Given the description of an element on the screen output the (x, y) to click on. 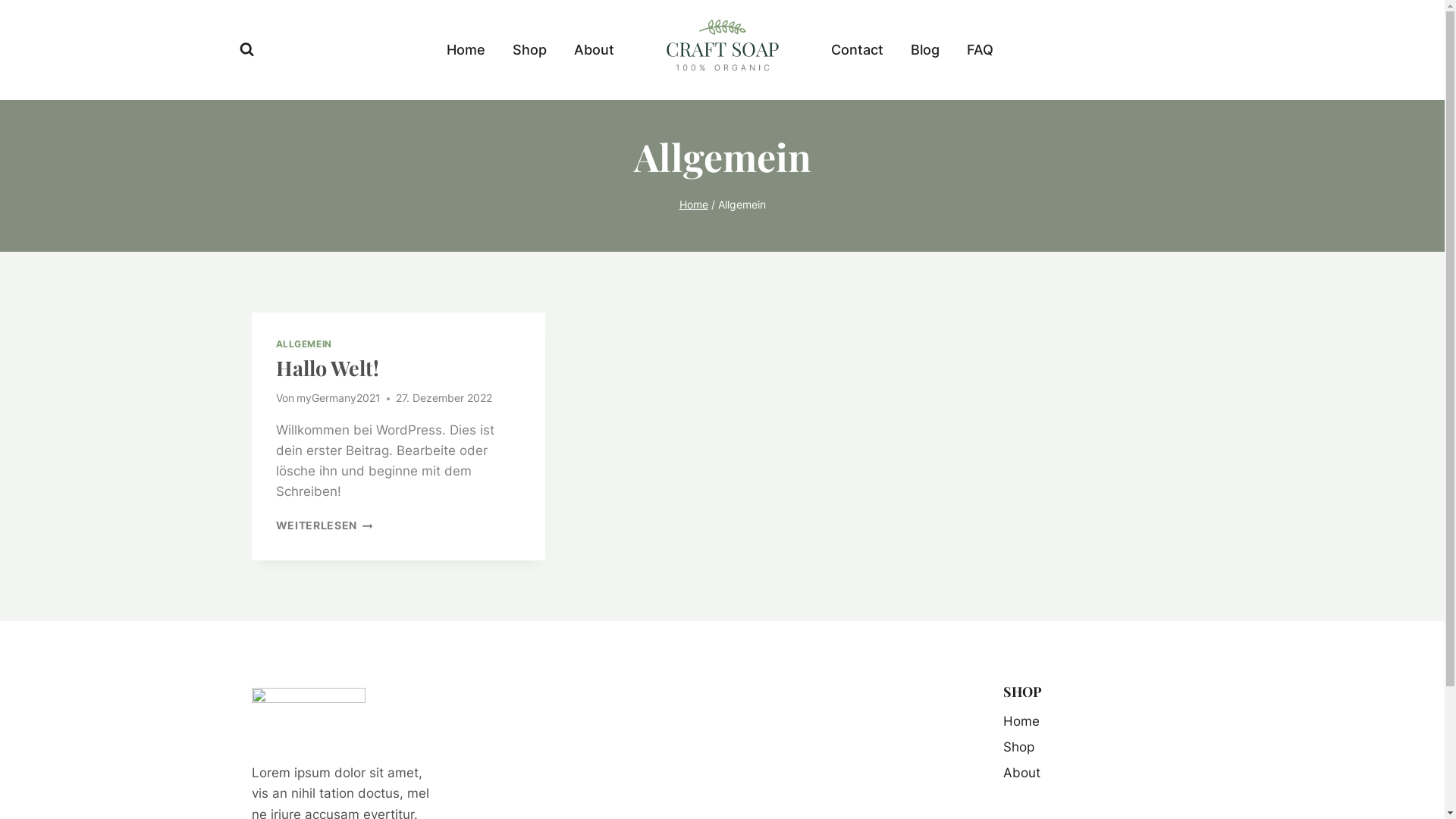
FAQ Element type: text (979, 50)
Blog Element type: text (924, 50)
Home Element type: text (693, 203)
Shop Element type: text (1098, 747)
Shop Element type: text (529, 50)
About Element type: text (593, 50)
Hallo Welt! Element type: text (327, 367)
myGermany2021 Element type: text (338, 398)
Contact Element type: text (857, 50)
About Element type: text (1098, 773)
Home Element type: text (465, 50)
WEITERLESEN
HALLO WELT! Element type: text (324, 525)
Home Element type: text (1098, 721)
ALLGEMEIN Element type: text (304, 343)
